Given the description of an element on the screen output the (x, y) to click on. 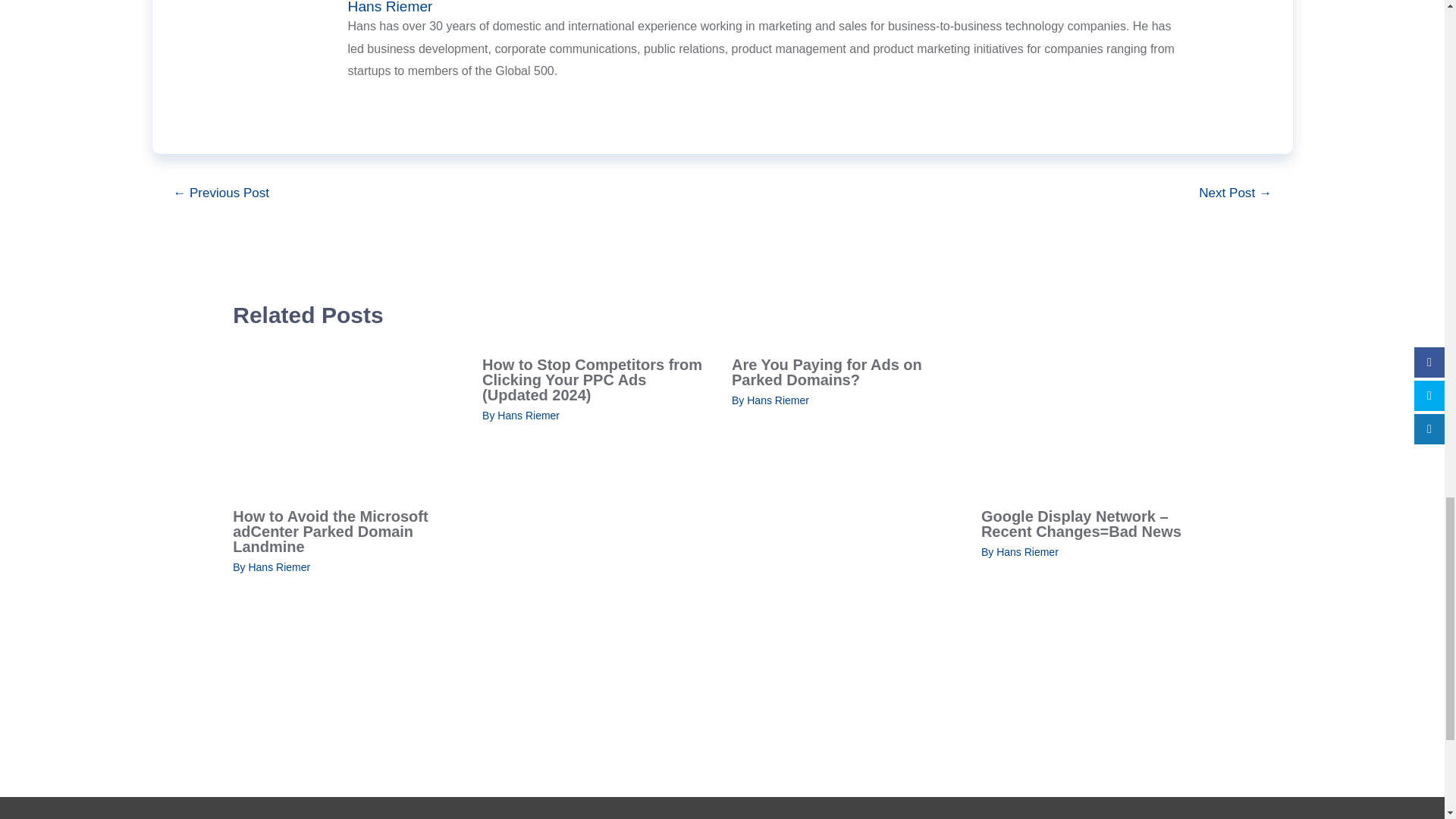
View all posts by Hans Riemer (1026, 551)
View all posts by Hans Riemer (278, 567)
View all posts by Hans Riemer (528, 415)
View all posts by Hans Riemer (777, 399)
